Given the description of an element on the screen output the (x, y) to click on. 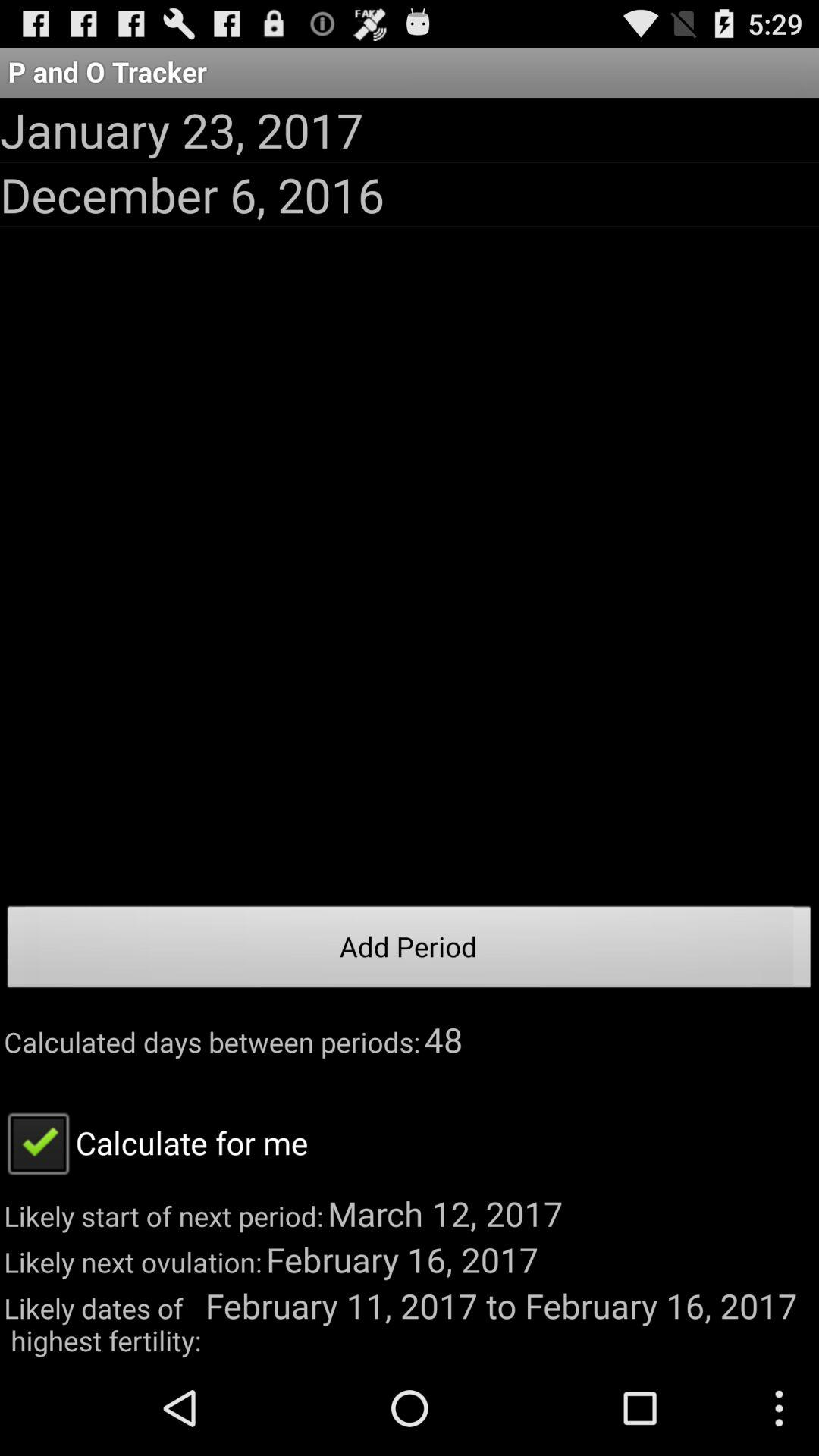
jump until the add period (409, 951)
